Given the description of an element on the screen output the (x, y) to click on. 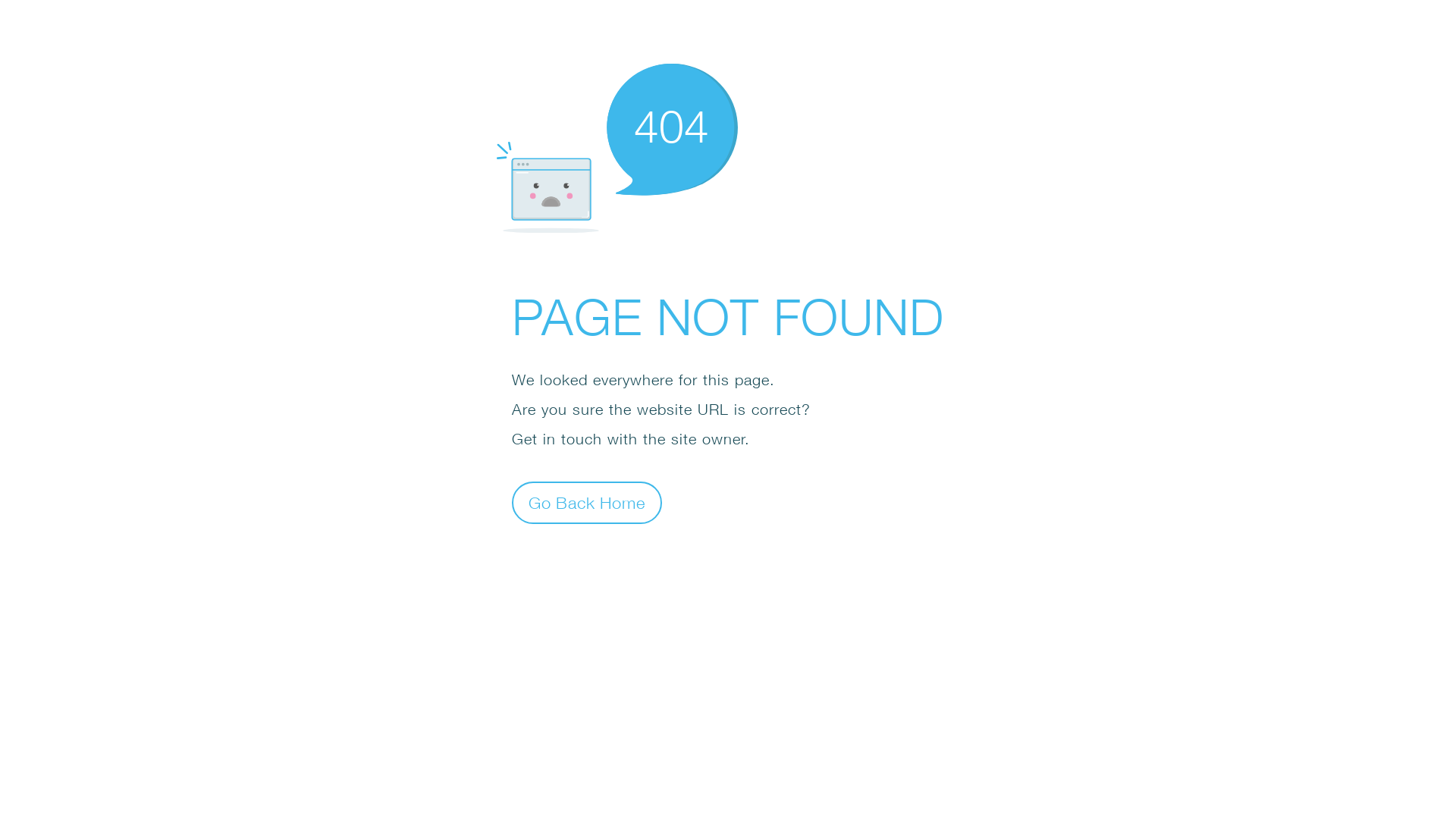
Go Back Home Element type: text (586, 502)
